Given the description of an element on the screen output the (x, y) to click on. 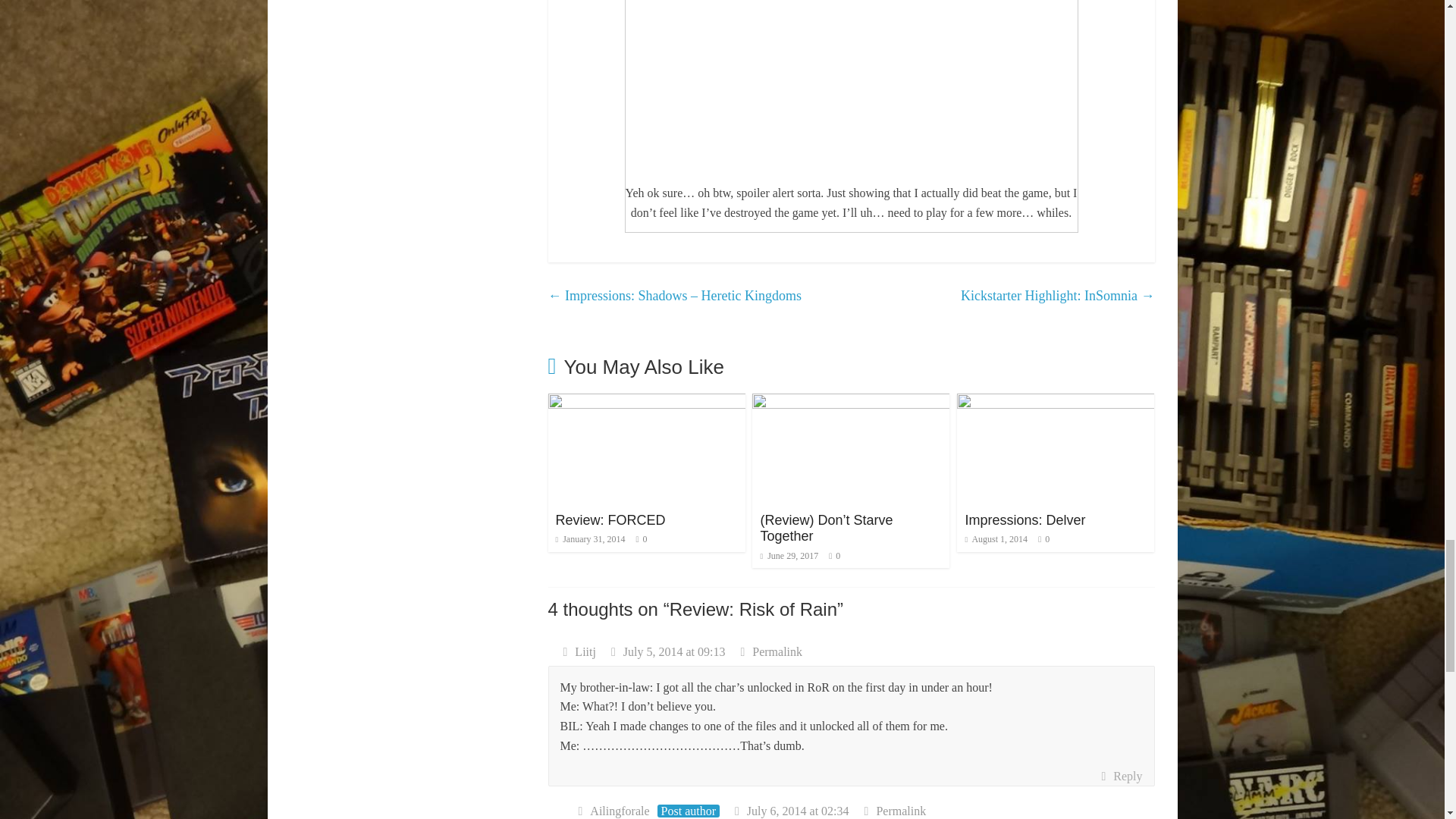
Review: FORCED (610, 519)
13:07 (591, 538)
Review: FORCED (646, 402)
